Given the description of an element on the screen output the (x, y) to click on. 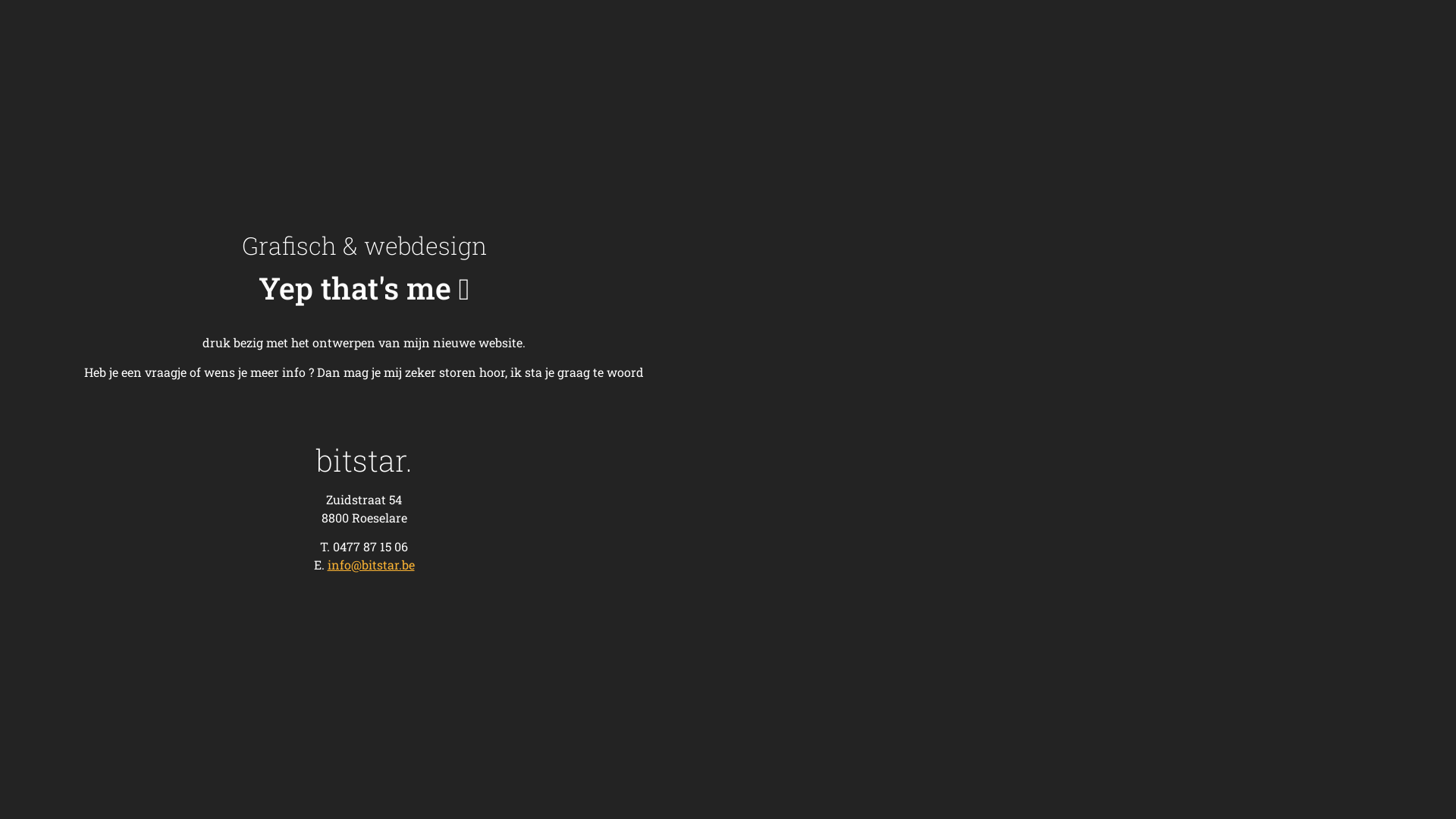
info@bitstar.be Element type: text (370, 564)
